Given the description of an element on the screen output the (x, y) to click on. 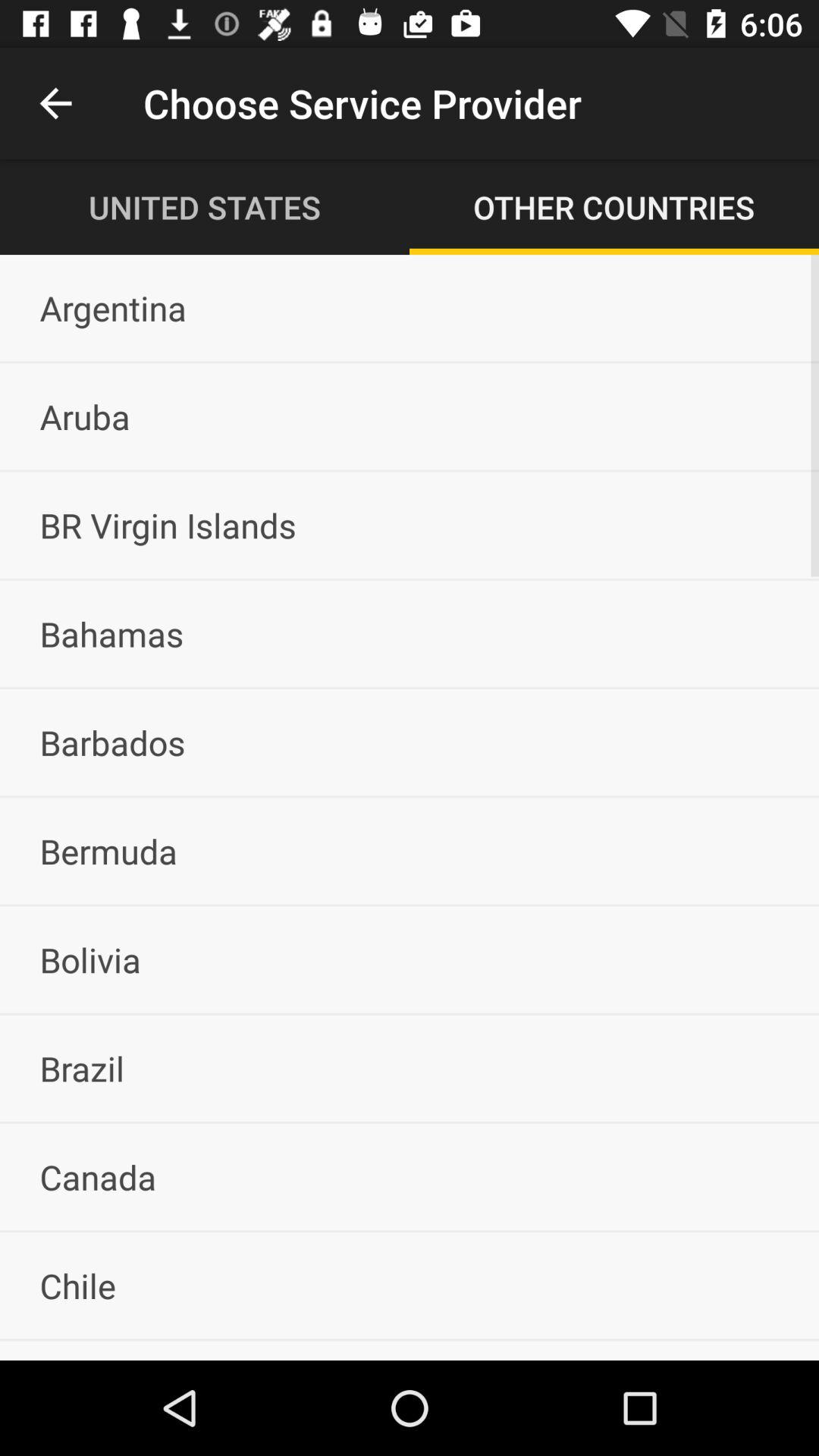
press icon below the brazil icon (409, 1176)
